Given the description of an element on the screen output the (x, y) to click on. 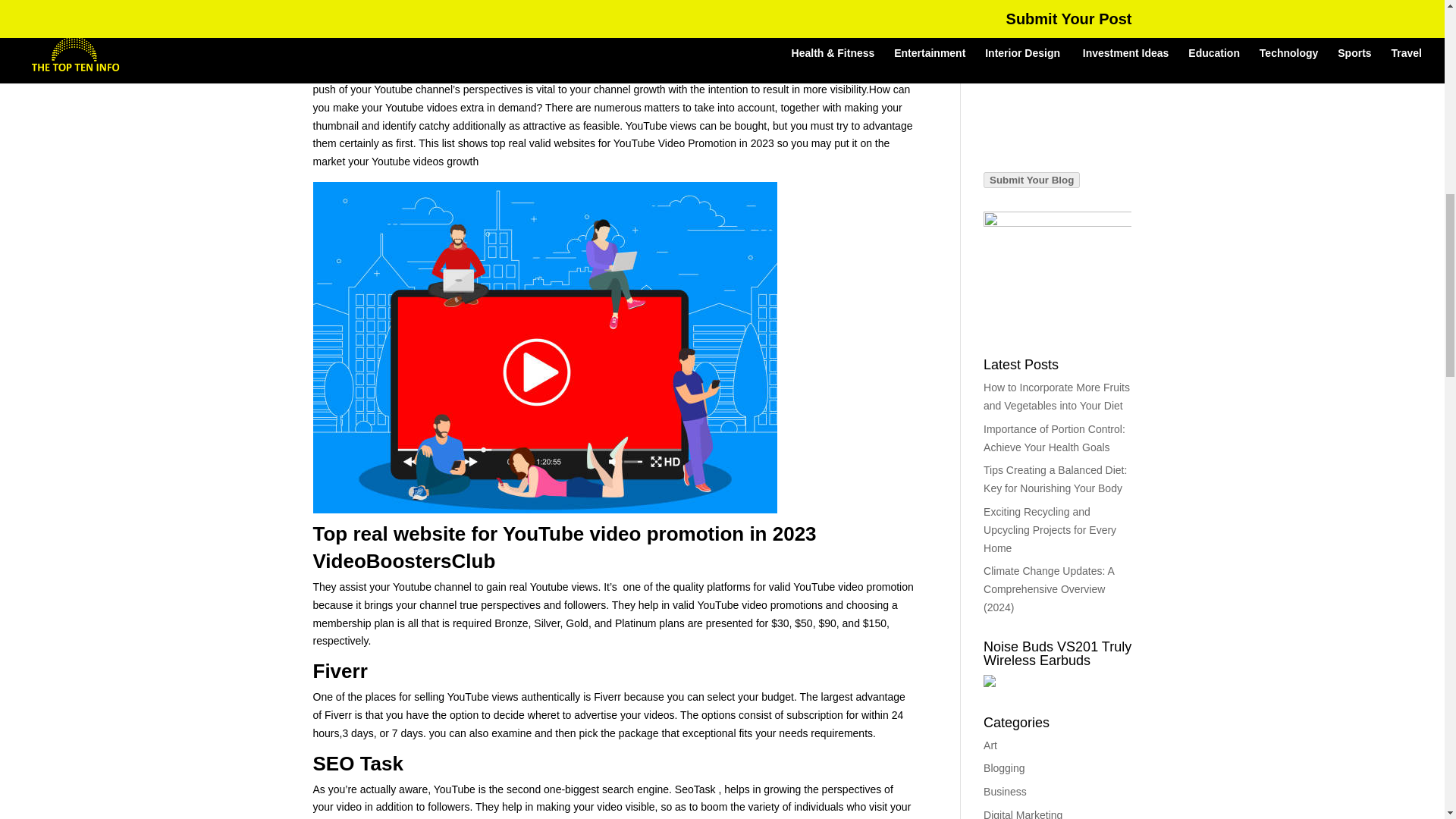
How to Incorporate More Fruits and Vegetables into Your Diet (1056, 396)
Art (990, 745)
Exciting Recycling and Upcycling Projects for Every Home (1050, 530)
Digital Marketing (1023, 814)
Blogging (1004, 767)
Submit Your Blog (1032, 179)
Business (1005, 791)
YouTube video promotion (853, 586)
Importance of Portion Control: Achieve Your Health Goals (1054, 438)
Submit Your Blog (1032, 179)
Tips Creating a Balanced Diet: Key for Nourishing Your Body (1055, 479)
